Given the description of an element on the screen output the (x, y) to click on. 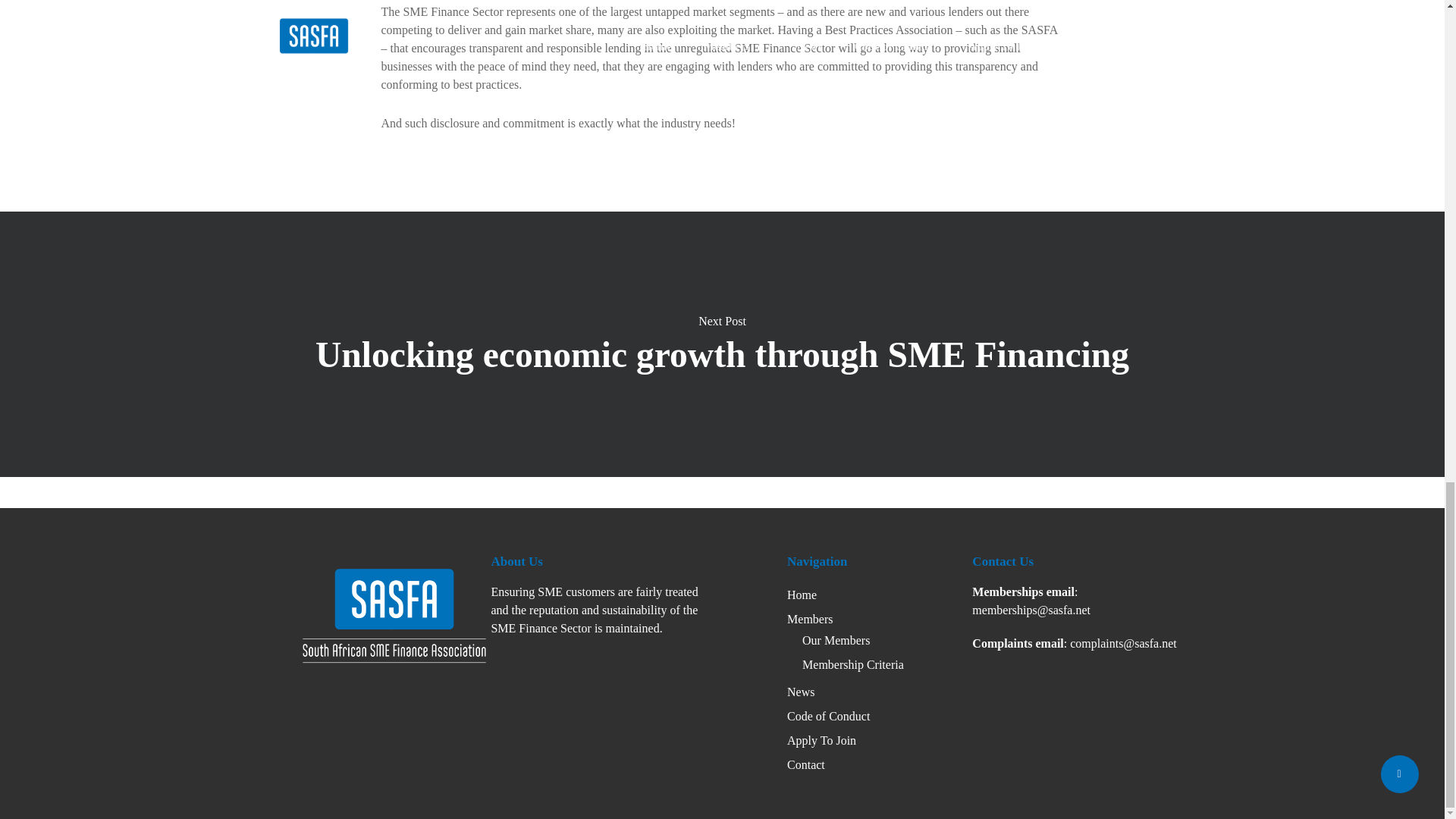
Members (809, 618)
News (800, 691)
Contact (806, 764)
Code of Conduct (828, 716)
Our Members (835, 640)
Membership Criteria (853, 664)
Apply To Join (821, 739)
Home (801, 594)
